Given the description of an element on the screen output the (x, y) to click on. 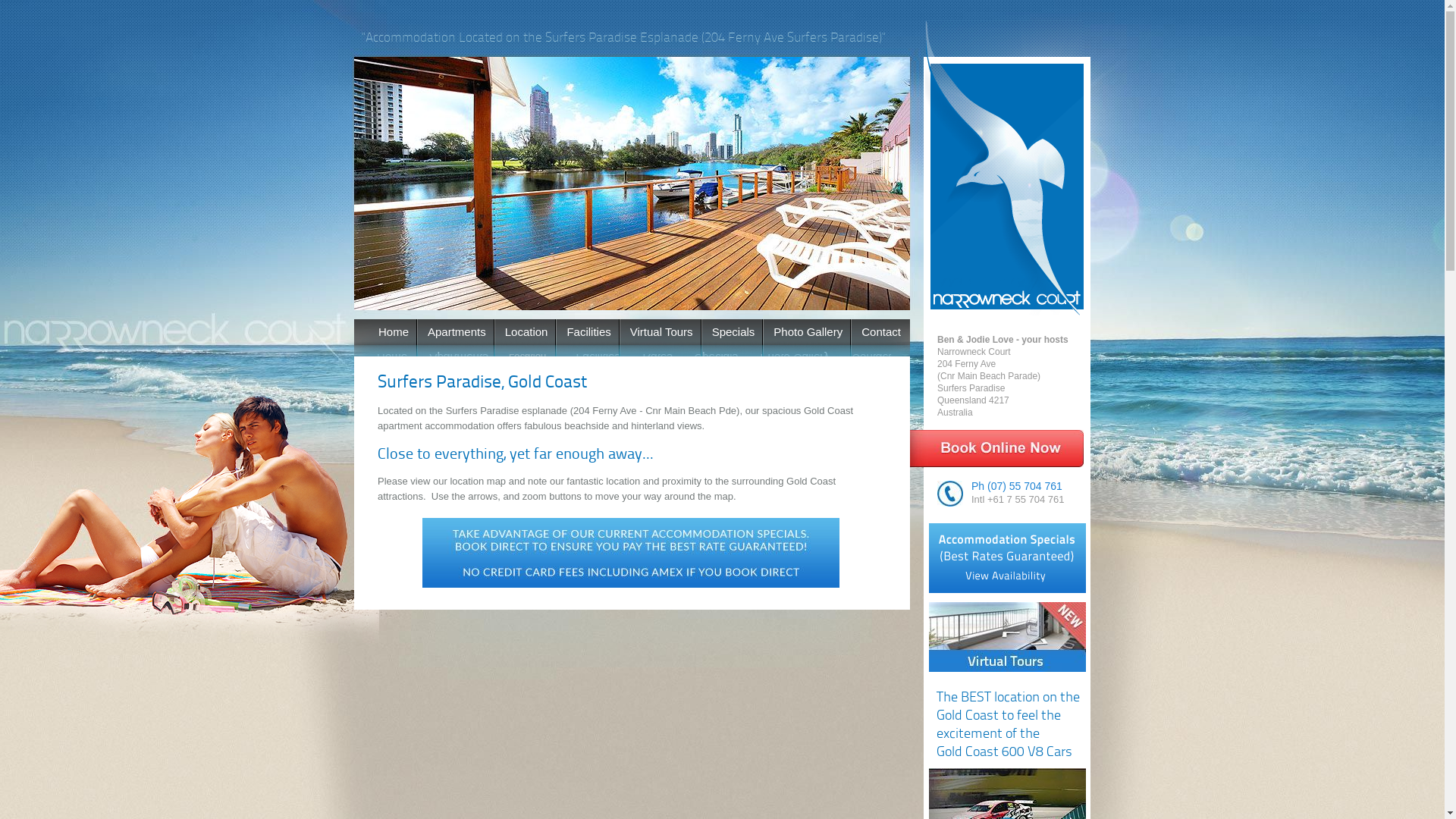
Apartments Element type: text (455, 337)
Photo Gallery Element type: text (806, 337)
Virtual Tours Element type: text (660, 337)
Specials Element type: text (732, 337)
Location Element type: text (525, 337)
Contact Element type: text (879, 337)
Facilities Element type: text (587, 337)
Home Element type: text (392, 337)
